Given the description of an element on the screen output the (x, y) to click on. 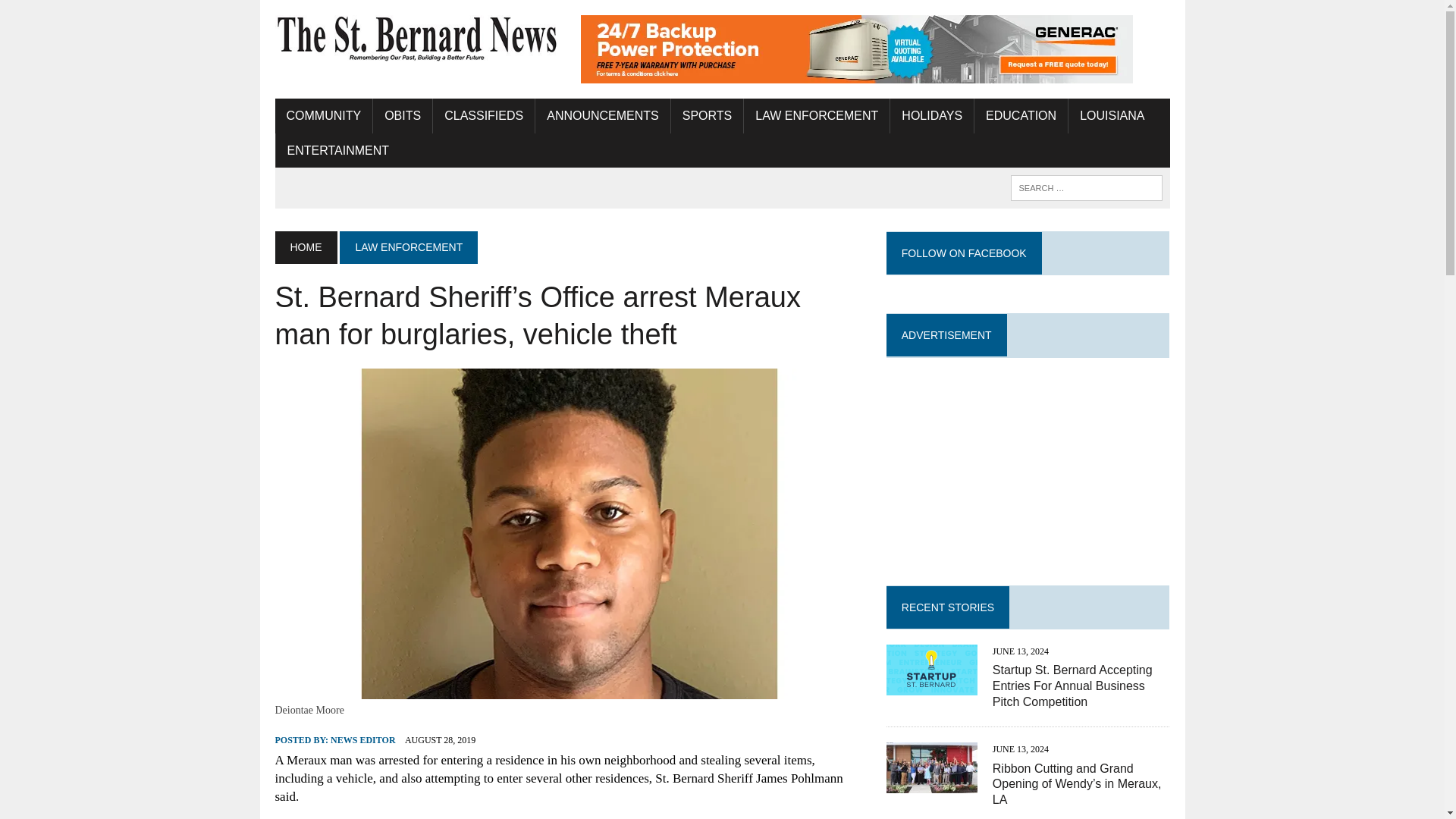
COMMUNITY (323, 115)
ANNOUNCEMENTS (602, 115)
The St. Bernard News (416, 38)
OBITS (402, 115)
CLASSIFIEDS (483, 115)
